Given the description of an element on the screen output the (x, y) to click on. 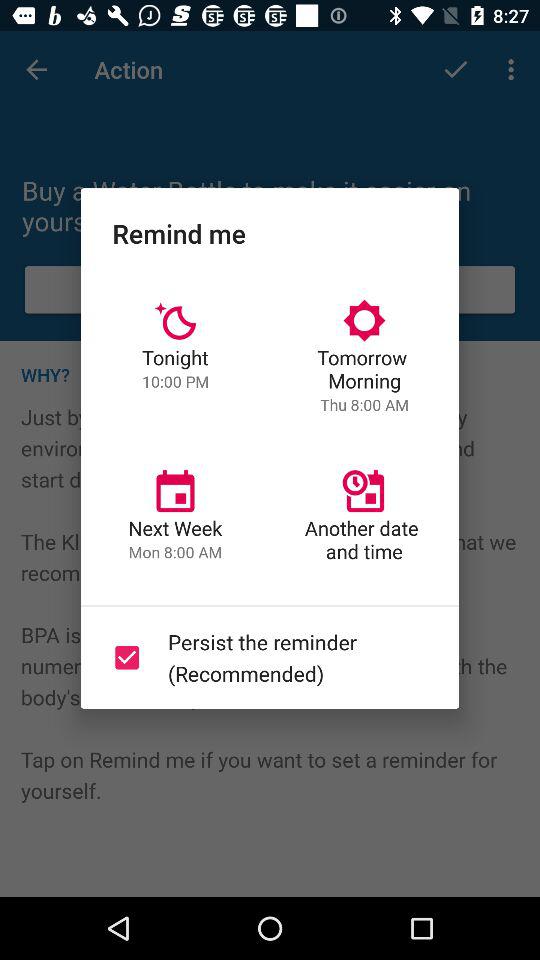
tap the persist the reminder at the bottom (265, 657)
